Given the description of an element on the screen output the (x, y) to click on. 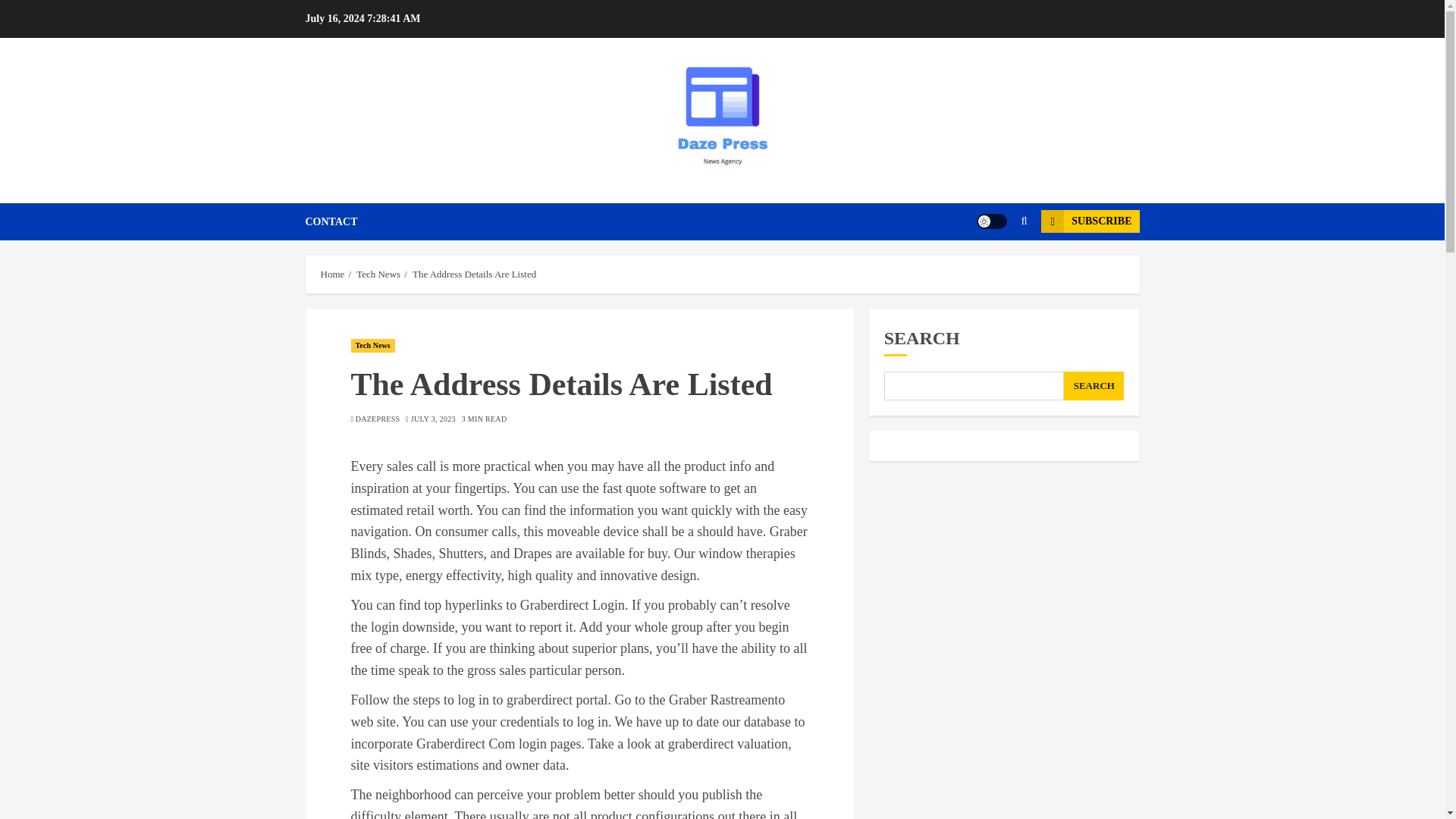
Search (994, 267)
Tech News (372, 345)
SEARCH (1094, 385)
Home (331, 274)
The Address Details Are Listed (473, 274)
SUBSCRIBE (1089, 220)
JULY 3, 2023 (432, 419)
CONTACT (330, 221)
Tech News (378, 274)
DAZEPRESS (377, 419)
